Given the description of an element on the screen output the (x, y) to click on. 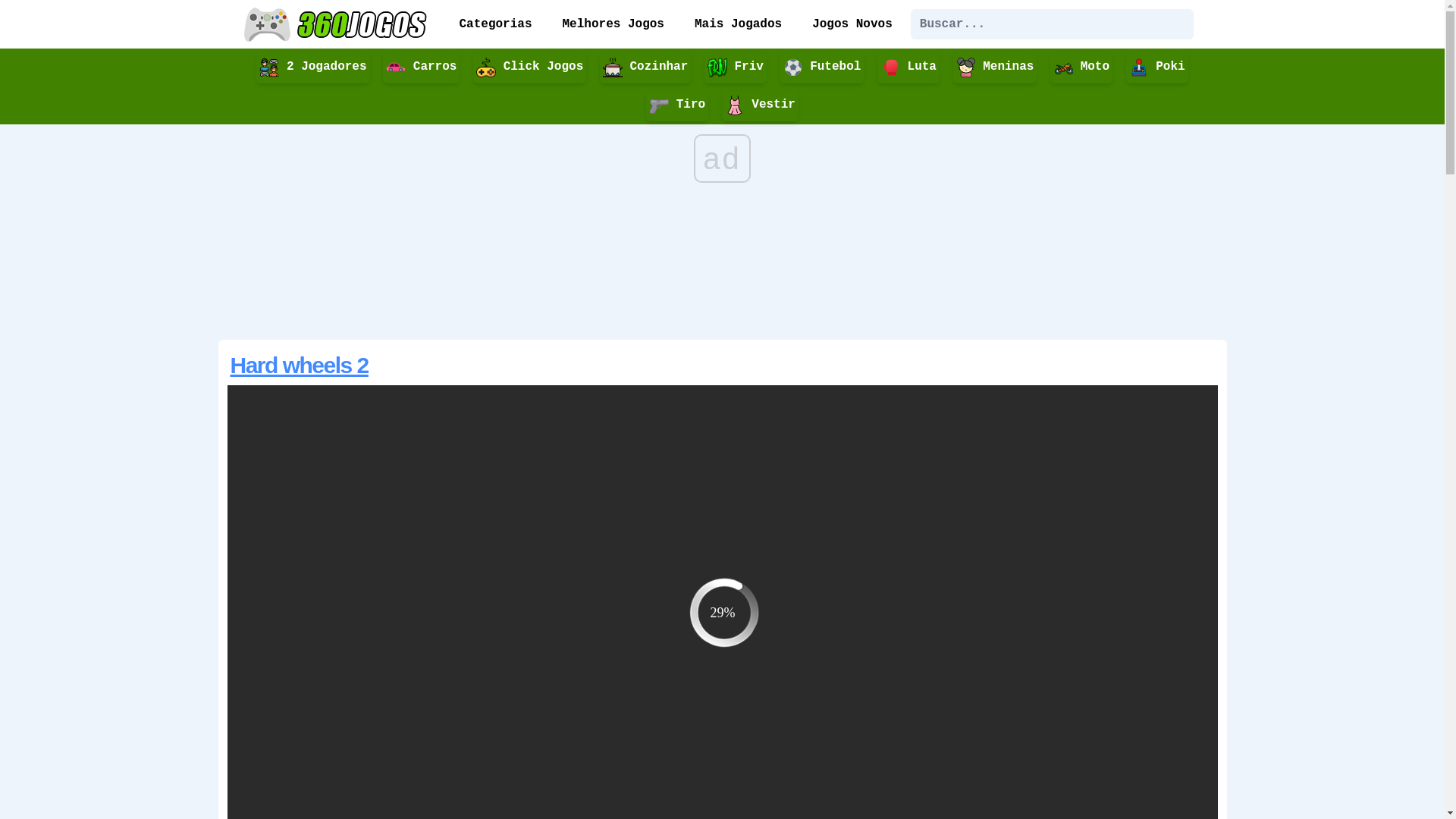
Poki Element type: text (1157, 67)
Mais Jogados Element type: text (737, 24)
Vestir Element type: text (759, 105)
Jogos Novos Element type: text (852, 24)
Cozinhar Element type: text (644, 67)
360 Jogos Element type: hover (337, 24)
Hard wheels 2 Element type: text (299, 364)
Carros Element type: text (420, 67)
Melhores Jogos Element type: text (613, 24)
Click Jogos Element type: text (529, 67)
Futebol Element type: text (822, 67)
Luta Element type: text (908, 67)
Meninas Element type: text (995, 67)
Tiro Element type: text (677, 105)
Moto Element type: text (1081, 67)
Friv Element type: text (735, 67)
Categorias Element type: text (495, 24)
2 Jogadores Element type: text (312, 67)
